Given the description of an element on the screen output the (x, y) to click on. 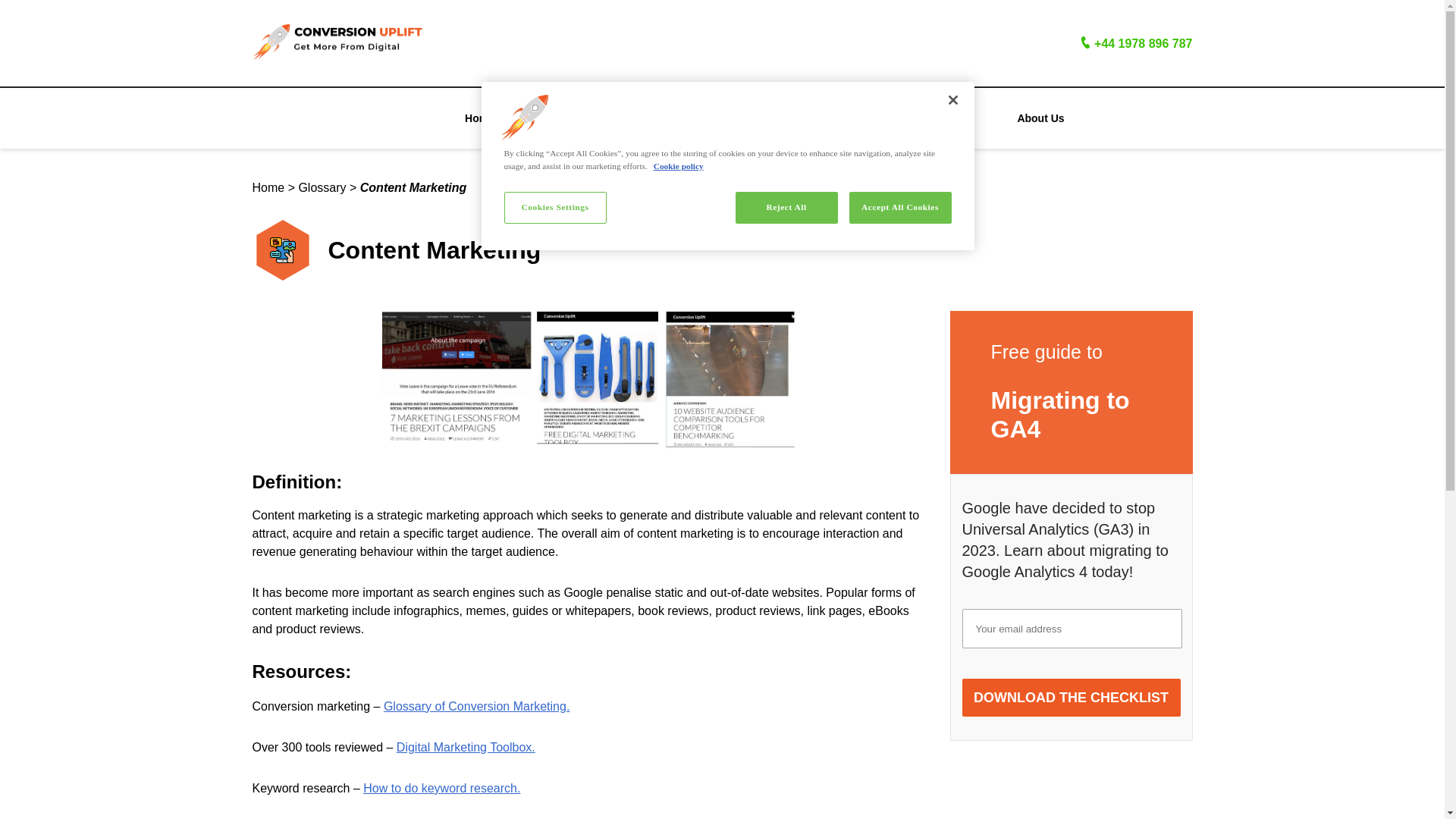
About Us (1040, 118)
Glossary (322, 187)
Download the Checklist (1069, 697)
Download the Checklist (1069, 697)
Do you want to call this number? (1143, 42)
Our Services (619, 118)
Glossary of Conversion Marketing. (476, 706)
Contact Us (899, 118)
Home (479, 118)
How to do keyword research. (440, 788)
Blog (760, 118)
Company Logo (524, 116)
Home (267, 187)
Digital Marketing Toolbox. (465, 747)
